Given the description of an element on the screen output the (x, y) to click on. 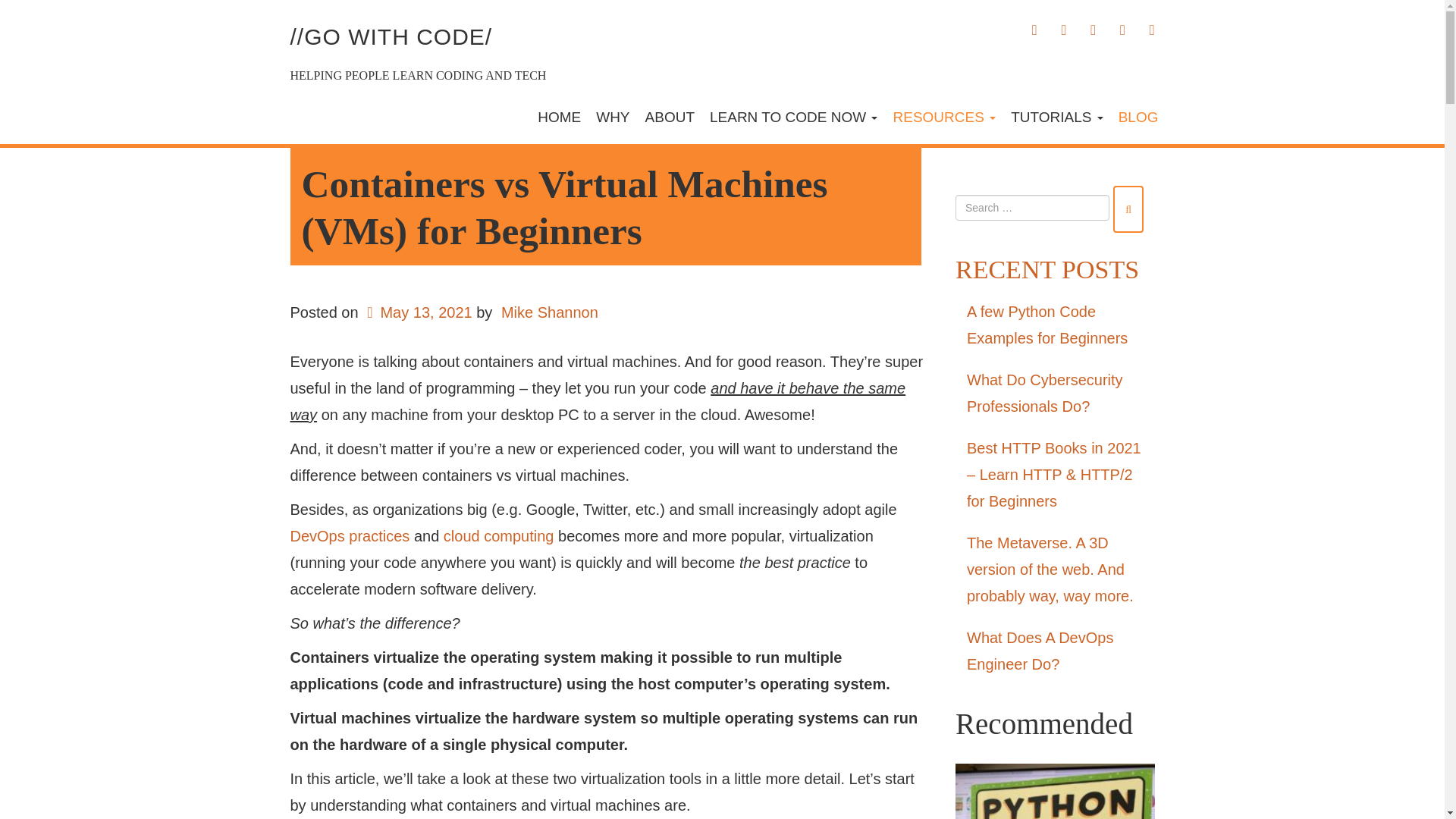
LEARN TO CODE NOW (793, 117)
DevOps practices (349, 535)
RESOURCES (944, 117)
BLOG (1138, 117)
WHY (612, 117)
cloud computing (499, 535)
May 13, 2021 (416, 312)
Mike Shannon (549, 312)
HOME (558, 117)
TUTORIALS (1056, 117)
